Given the description of an element on the screen output the (x, y) to click on. 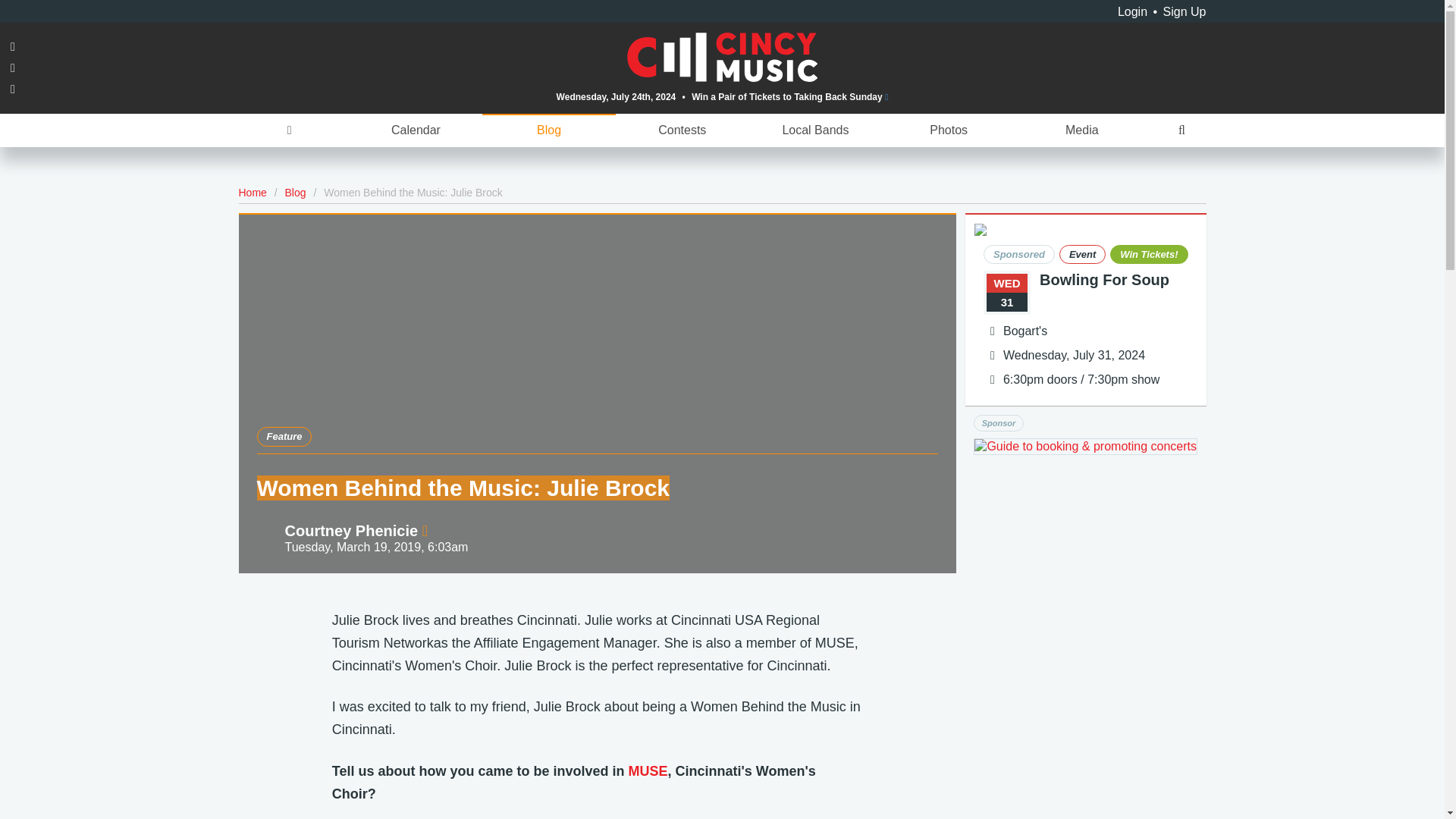
Photos (948, 130)
Home (252, 192)
Local Bands (815, 130)
Calendar (416, 130)
MUSE (646, 770)
Win a Pair of Tickets to Taking Back Sunday  (789, 95)
Blog (548, 130)
Media (1081, 130)
Login (1132, 11)
Blog (295, 192)
Contests (682, 130)
Sign Up (1185, 11)
CincyMusic (722, 56)
Courtney Phenicie  (356, 530)
